Given the description of an element on the screen output the (x, y) to click on. 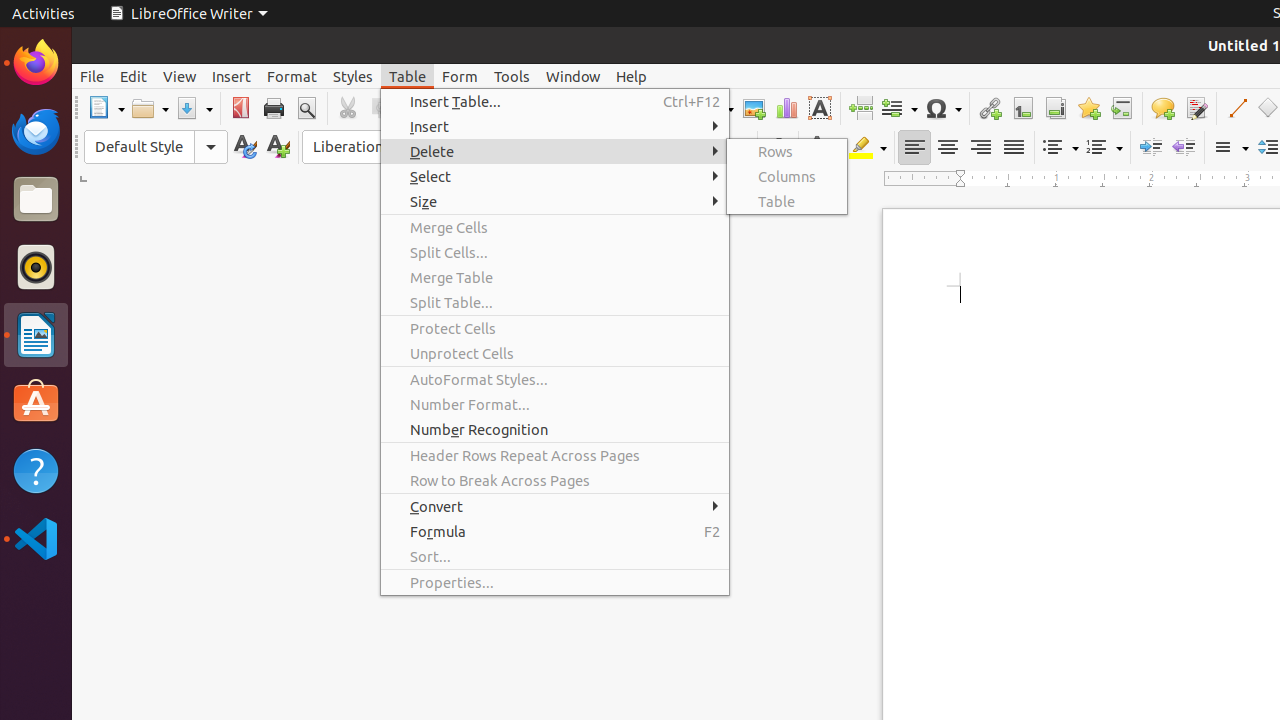
Number Format... Element type: menu-item (555, 404)
Header Rows Repeat Across Pages Element type: menu-item (555, 455)
Text Box Element type: push-button (819, 108)
Protect Cells Element type: menu-item (555, 328)
Hyperlink Element type: toggle-button (989, 108)
